Given the description of an element on the screen output the (x, y) to click on. 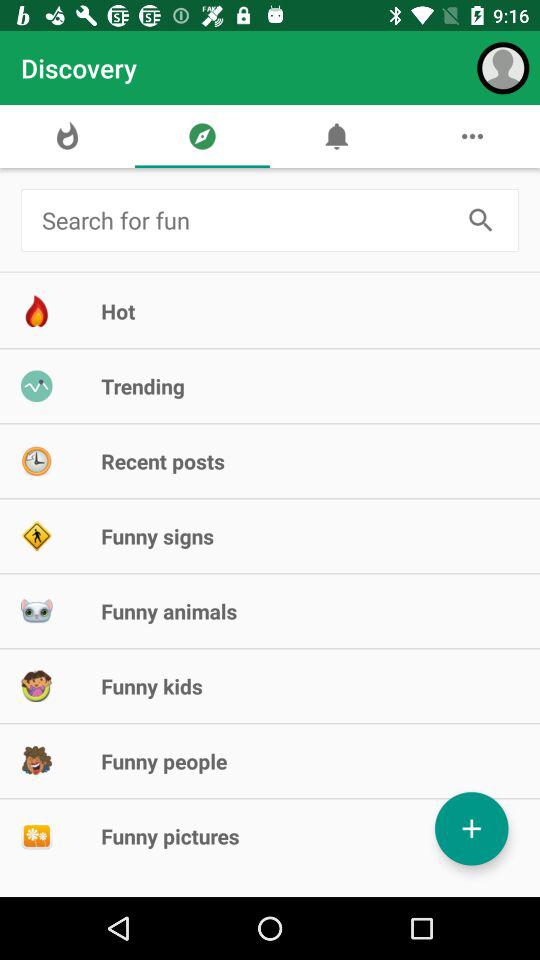
go back (245, 220)
